Given the description of an element on the screen output the (x, y) to click on. 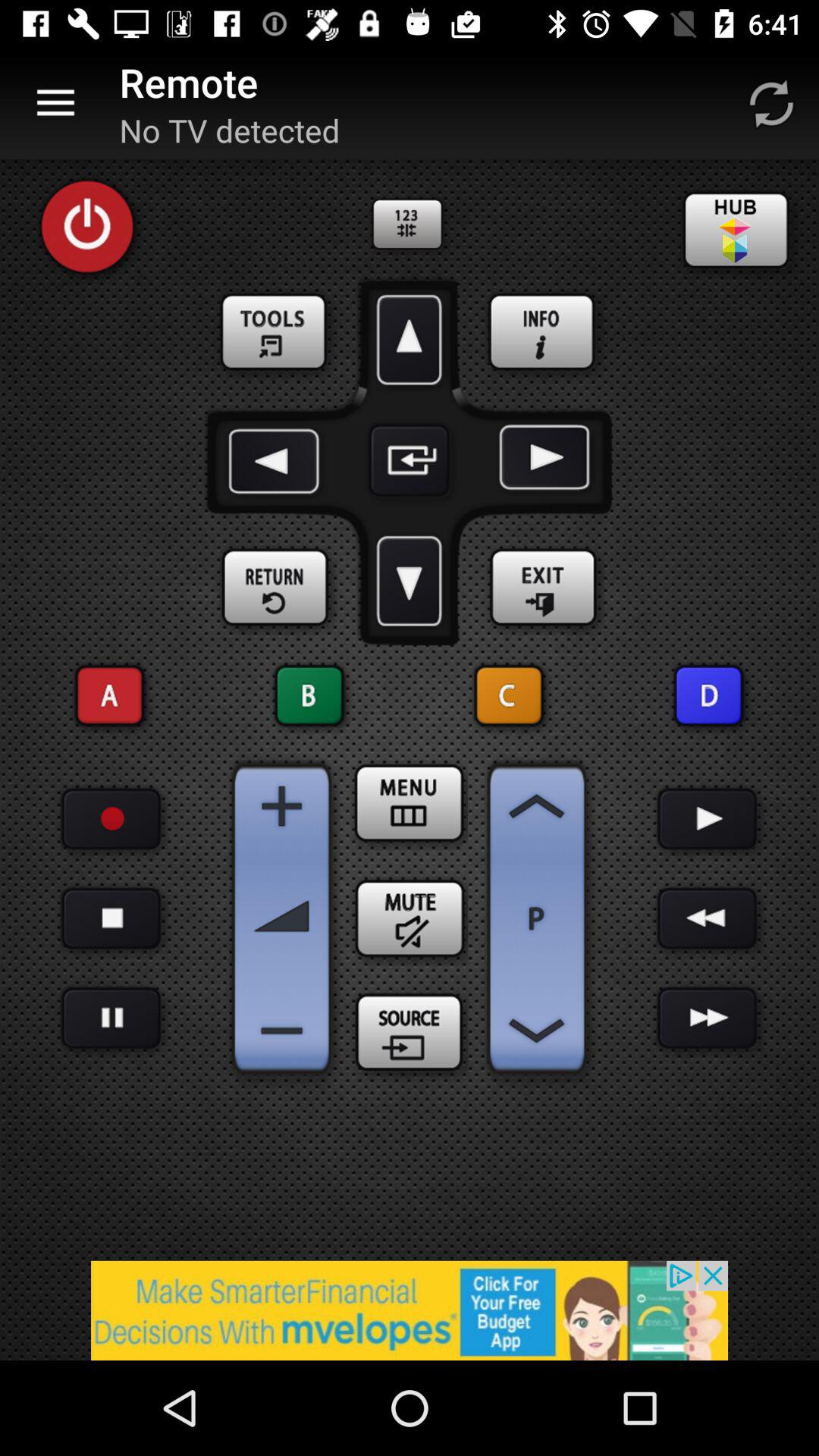
select the option (309, 695)
